Given the description of an element on the screen output the (x, y) to click on. 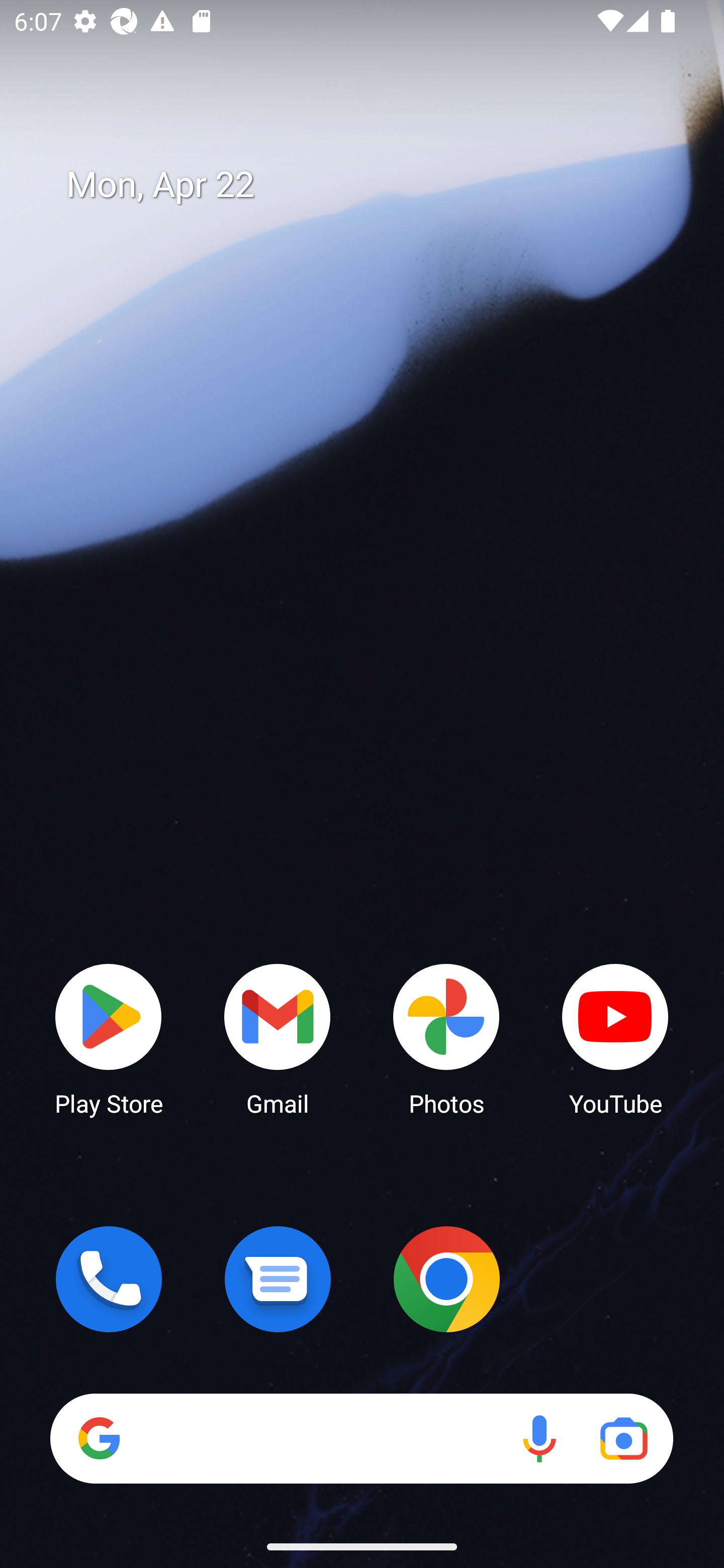
Mon, Apr 22 (375, 184)
Play Store (108, 1038)
Gmail (277, 1038)
Photos (445, 1038)
YouTube (615, 1038)
Phone (108, 1279)
Messages (277, 1279)
Chrome (446, 1279)
Search Voice search Google Lens (361, 1438)
Voice search (539, 1438)
Google Lens (623, 1438)
